Given the description of an element on the screen output the (x, y) to click on. 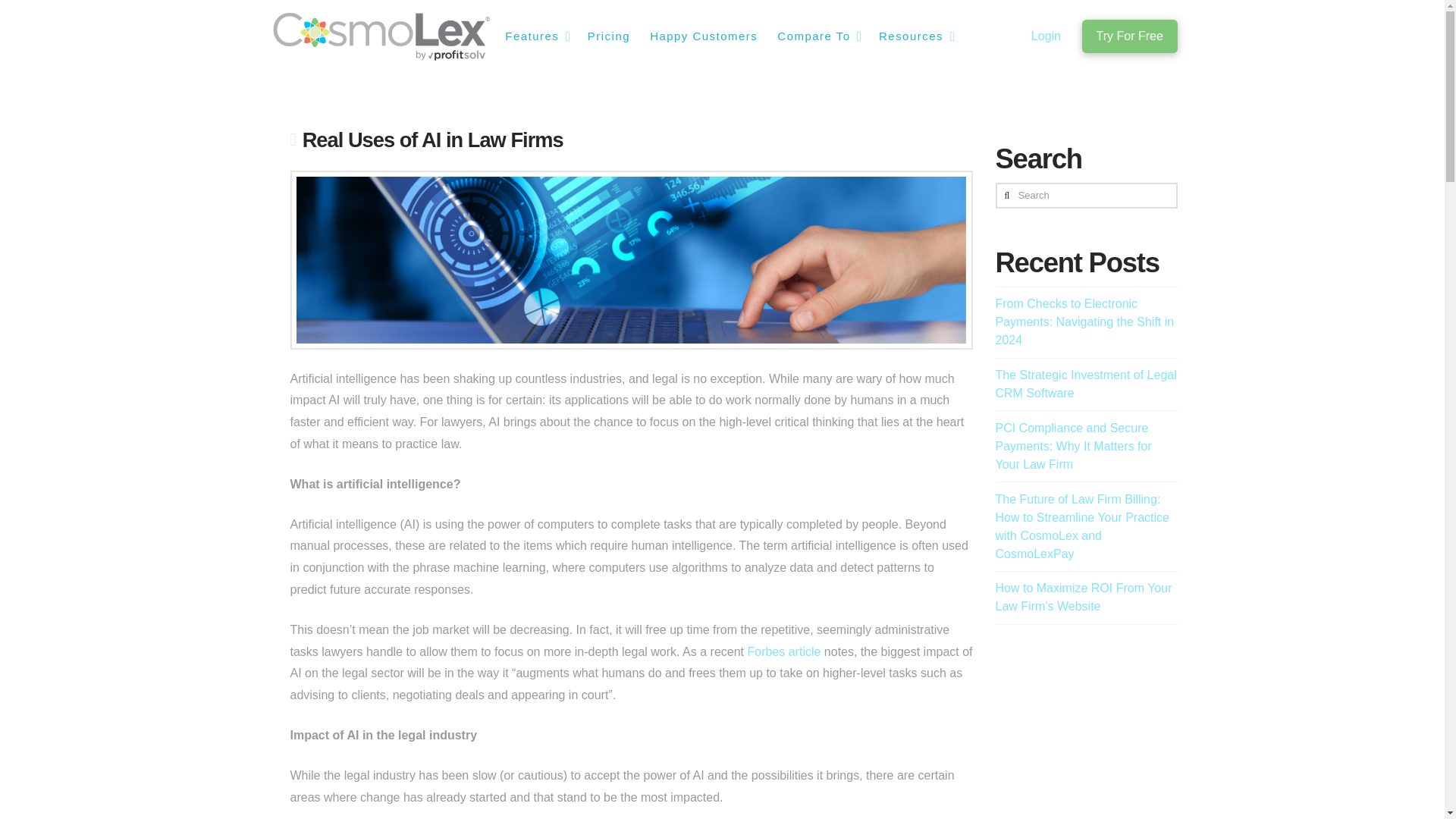
Happy Customers (703, 36)
Compare To (818, 36)
Try For Free (1128, 36)
Forbes article (783, 651)
Resources (913, 36)
Login (1045, 35)
Features (535, 36)
